Given the description of an element on the screen output the (x, y) to click on. 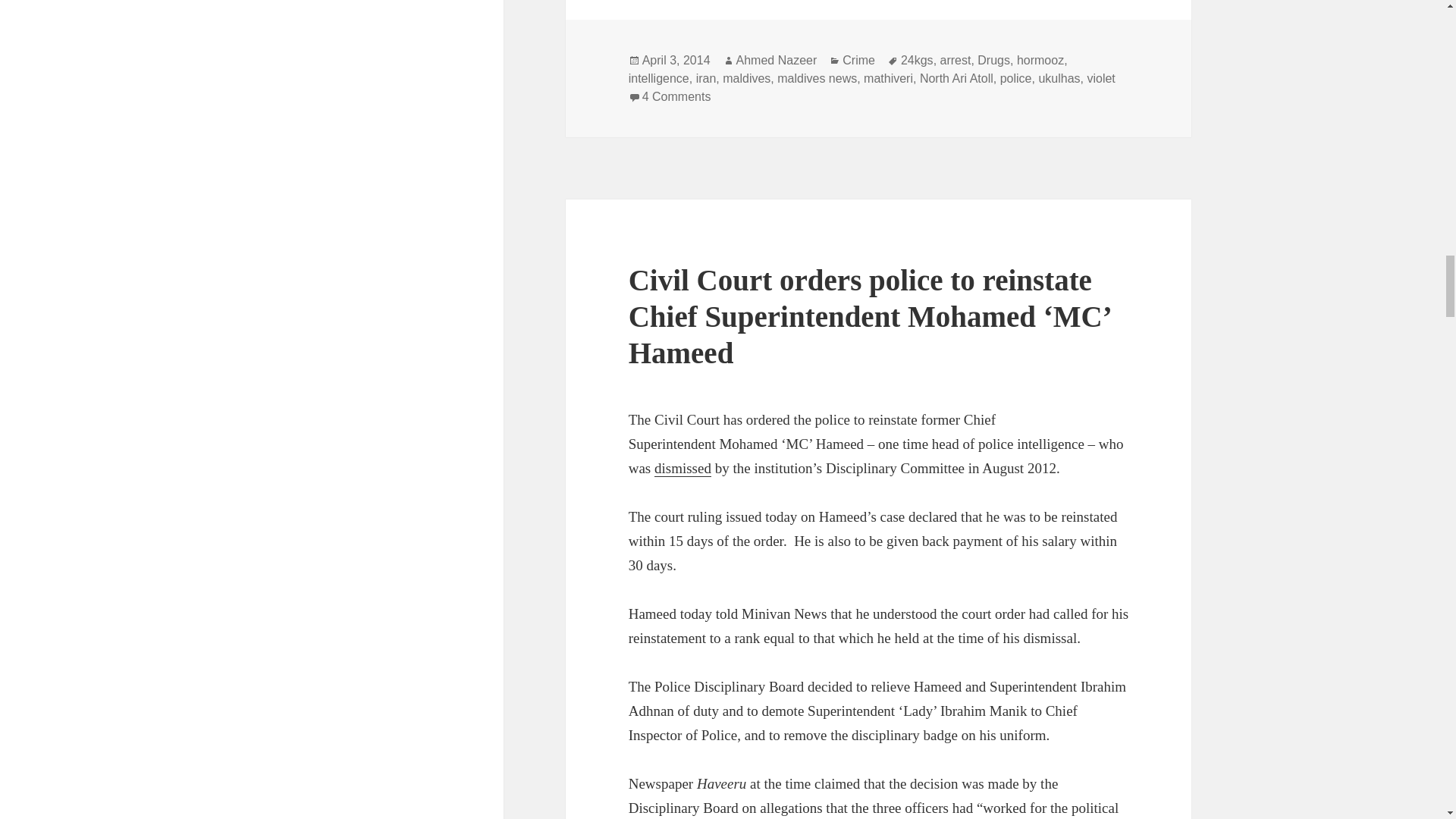
Drugs (993, 60)
arrest (955, 60)
hormooz (1040, 60)
iran (705, 78)
maldives (746, 78)
Crime (859, 60)
24kgs (917, 60)
April 3, 2014 (676, 60)
intelligence (658, 78)
Ahmed Nazeer (776, 60)
